Given the description of an element on the screen output the (x, y) to click on. 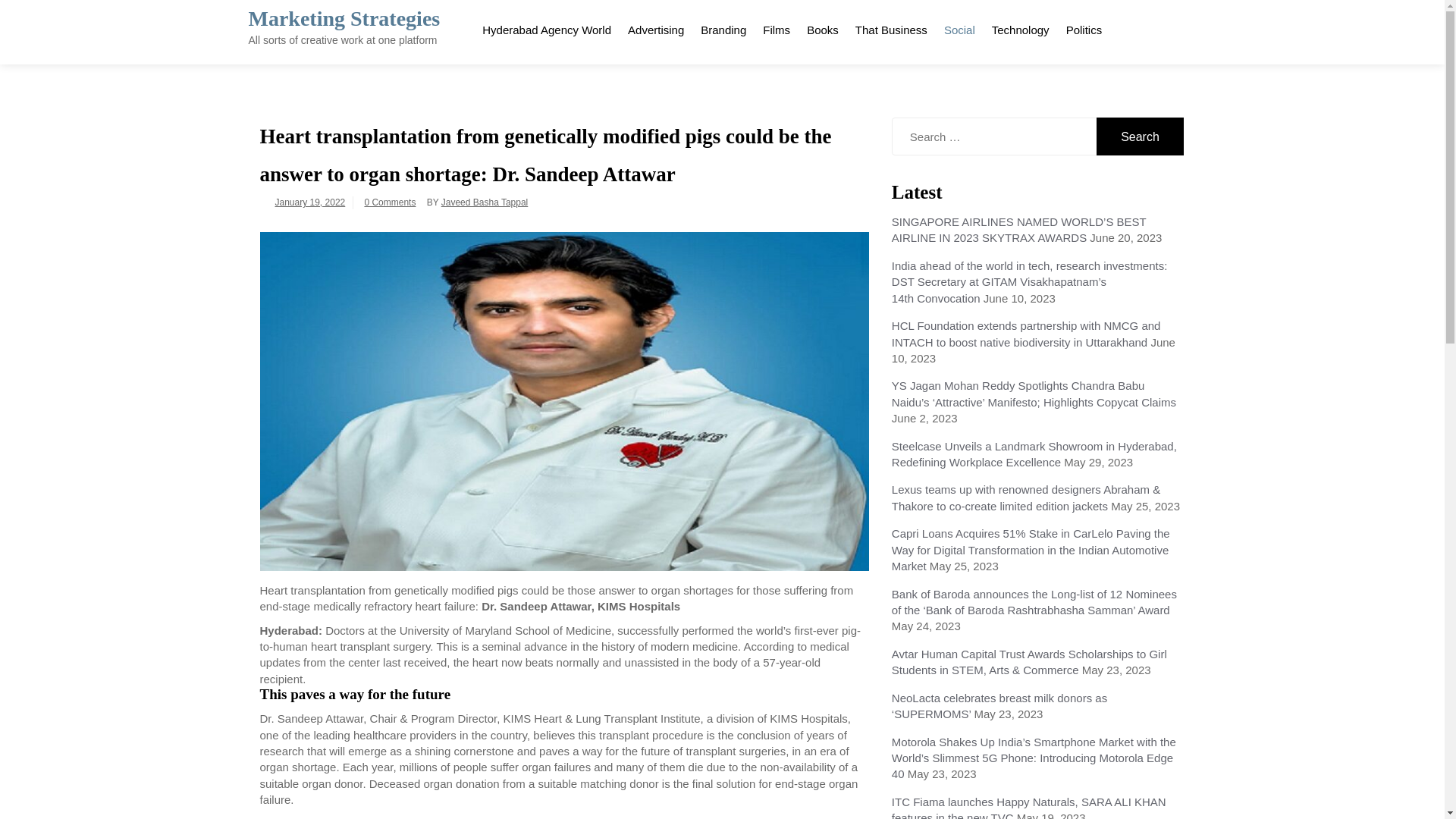
Films (775, 28)
Books (822, 28)
Search (1140, 136)
Technology (1021, 28)
Hyderabad Agency World (547, 28)
Branding (723, 28)
January 19, 2022 (310, 202)
Advertising (656, 28)
Politics (1084, 28)
That Business (891, 28)
That Business (891, 28)
Social (960, 28)
Hyderabad Agency World (547, 28)
0 Comments (389, 202)
